Given the description of an element on the screen output the (x, y) to click on. 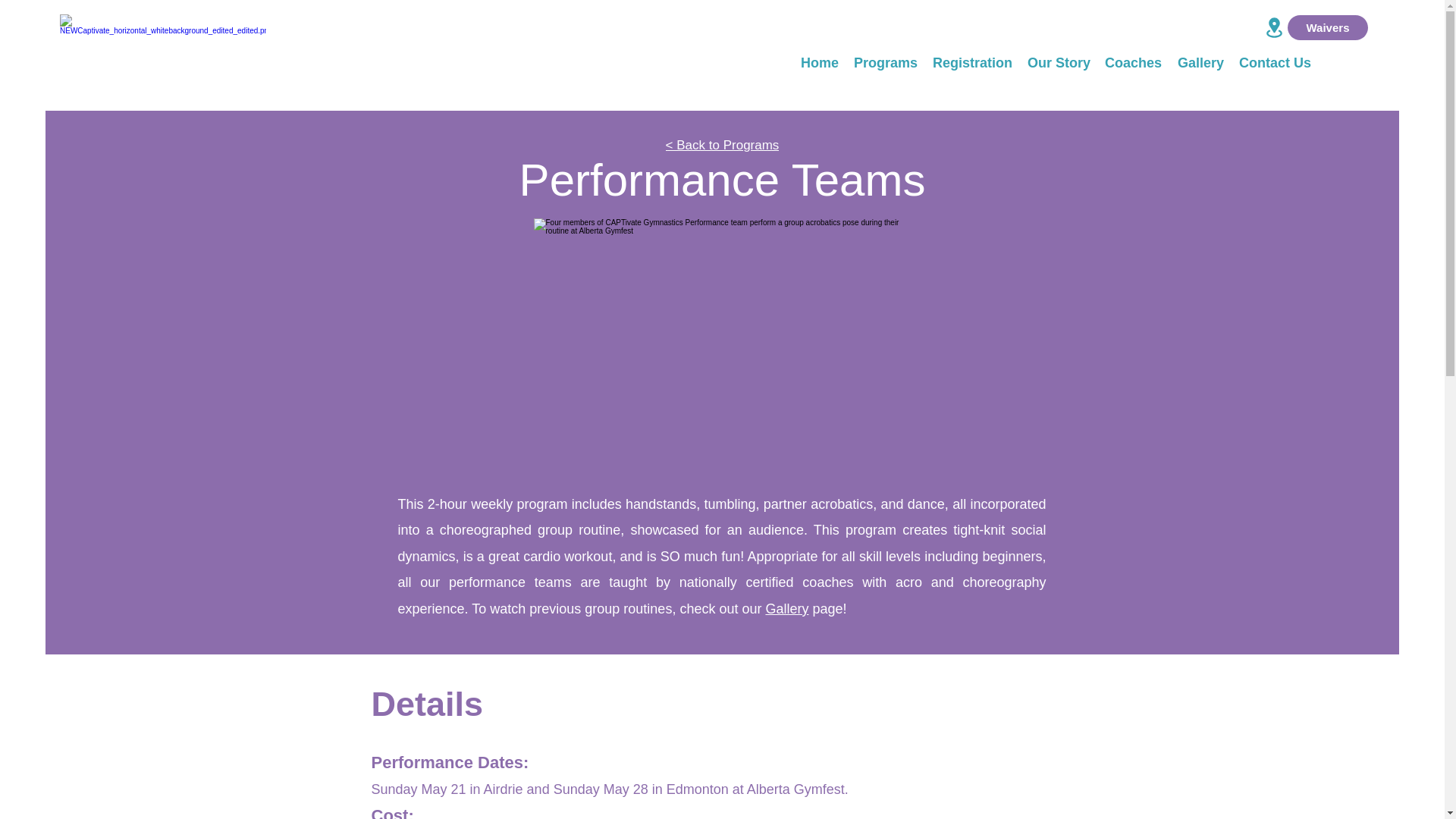
Contact Us (1275, 62)
Our Story (1058, 62)
Gallery (1200, 62)
Registration (972, 62)
Coaches (1133, 62)
Waivers (1327, 27)
Gallery (786, 608)
Home (818, 62)
Programs (884, 62)
